Given the description of an element on the screen output the (x, y) to click on. 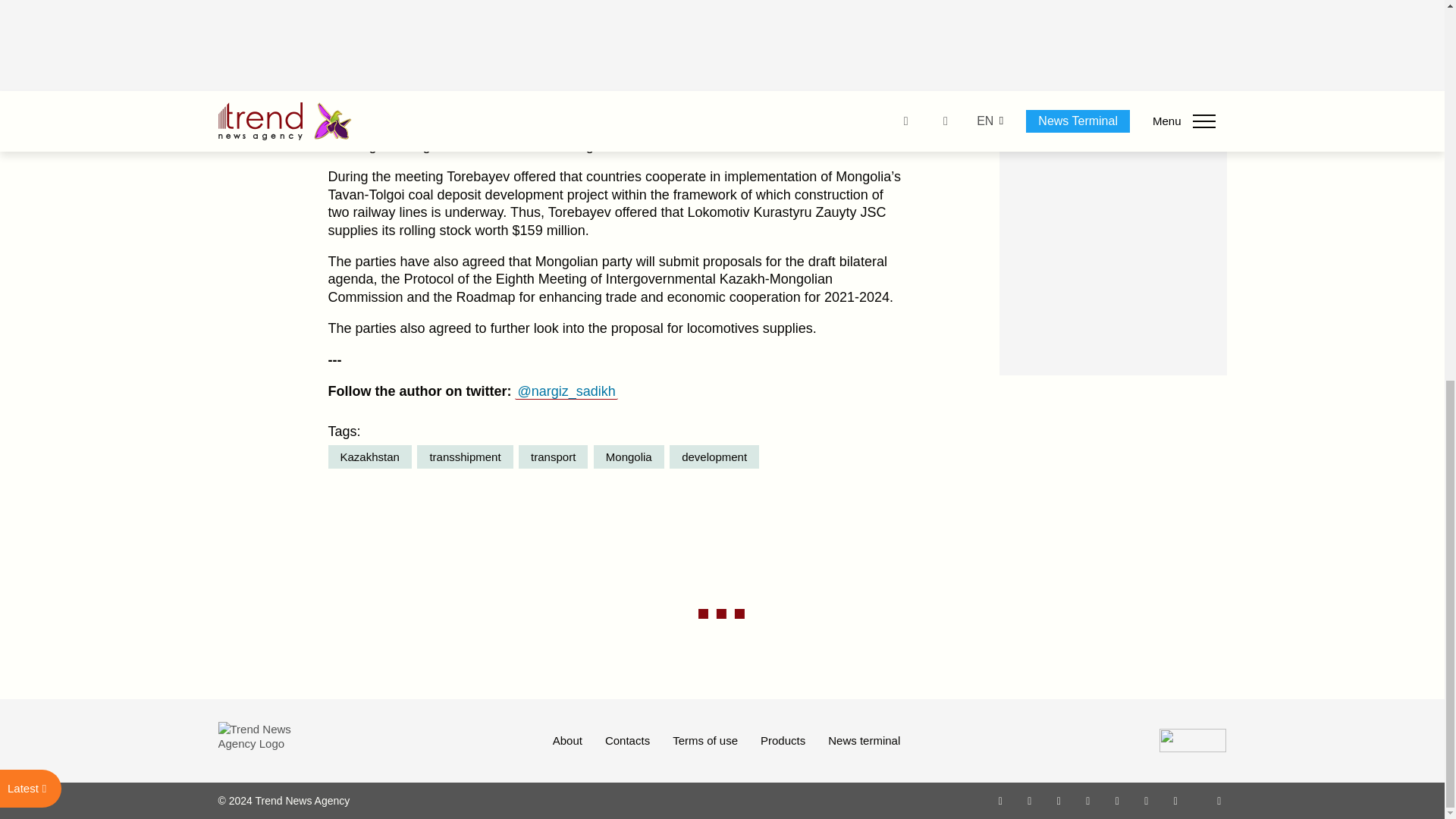
Whatsapp (1000, 800)
Twitter (1059, 800)
Android App (1176, 800)
LinkedIn (1146, 800)
Youtube (1088, 800)
RSS Feed (1219, 800)
Facebook (1029, 800)
Telegram (1117, 800)
